Given the description of an element on the screen output the (x, y) to click on. 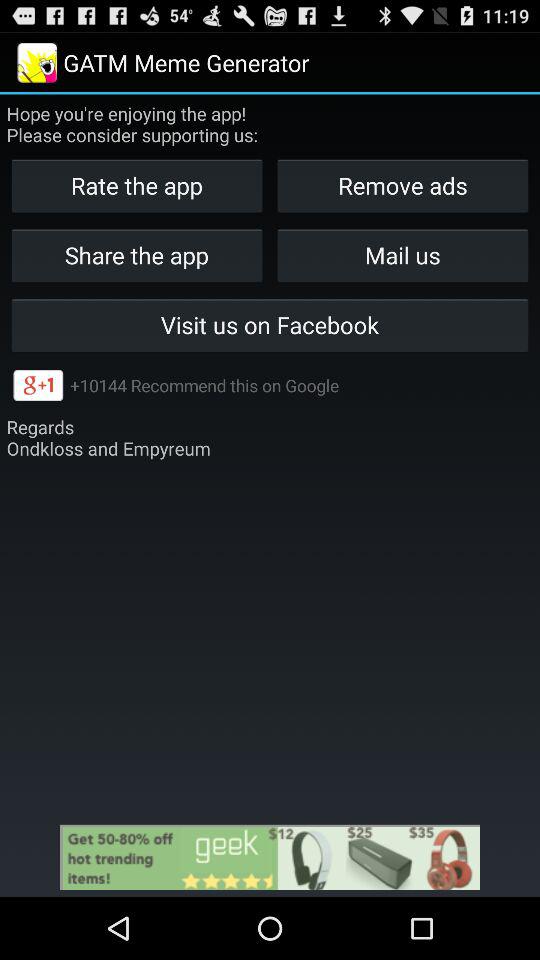
select icon below share the app icon (269, 324)
